Given the description of an element on the screen output the (x, y) to click on. 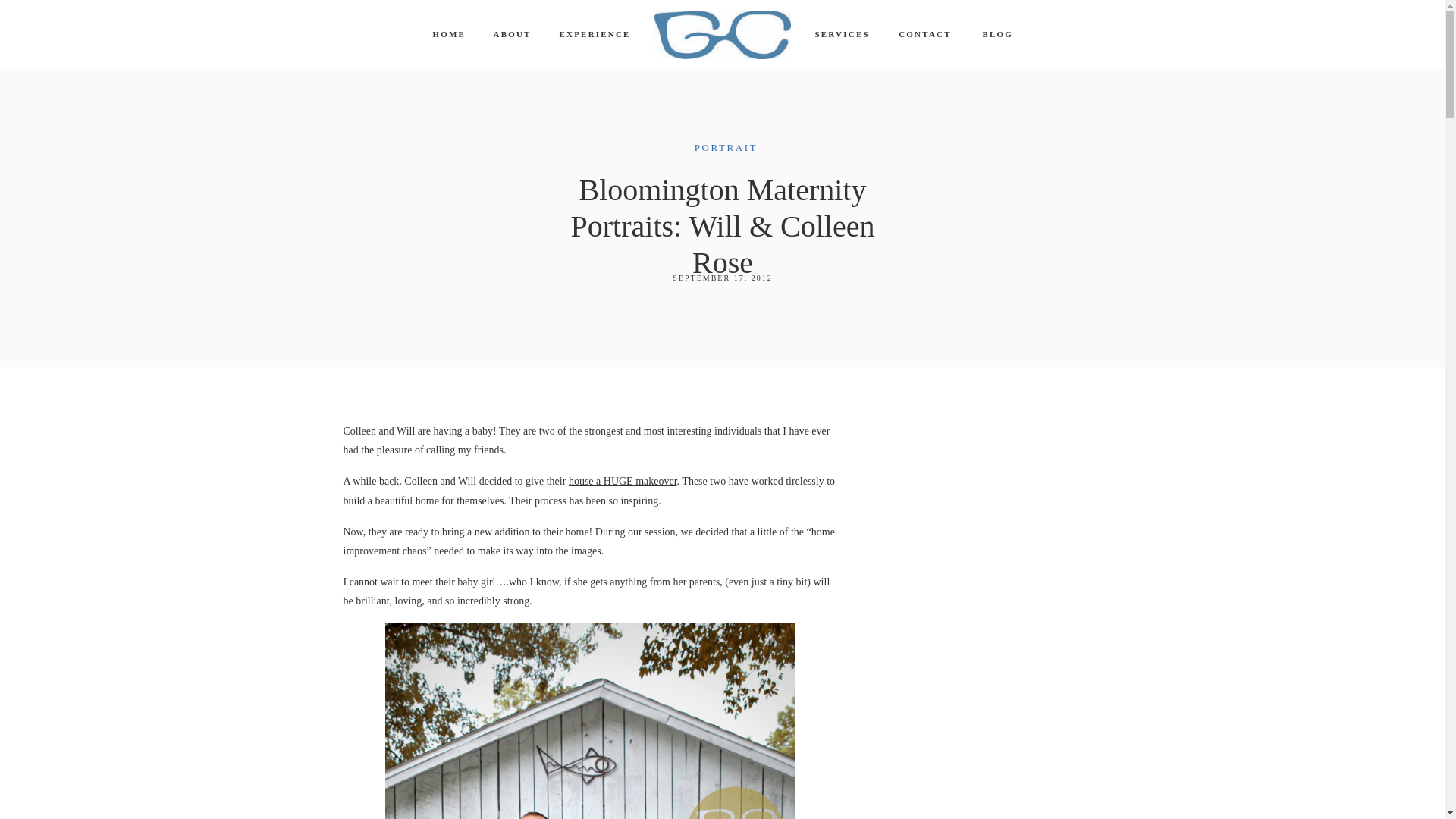
EXPERIENCE (590, 36)
Screen Shot 2012-09-17 at 6.23.35 PM (589, 721)
SERVICES (840, 36)
PORTRAIT (726, 147)
CONTACT (925, 36)
BLOG (997, 36)
house a HUGE makeover (623, 480)
ABOUT (510, 36)
HOME (447, 36)
